Given the description of an element on the screen output the (x, y) to click on. 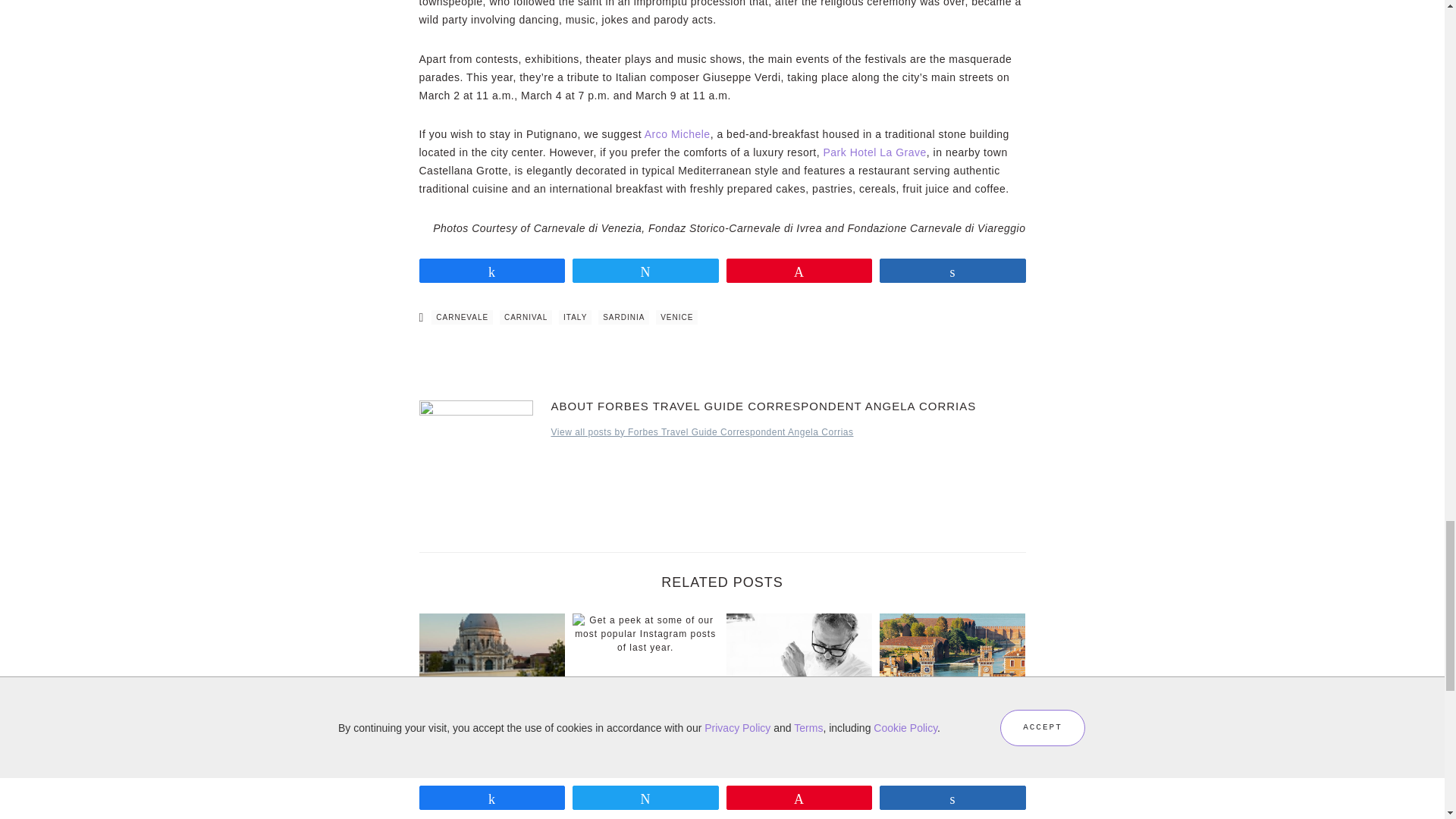
Permanent Link toYour Guide To The Venice Biennale (952, 684)
Arco Michele (677, 133)
Park Hotel La Grave (875, 152)
